Given the description of an element on the screen output the (x, y) to click on. 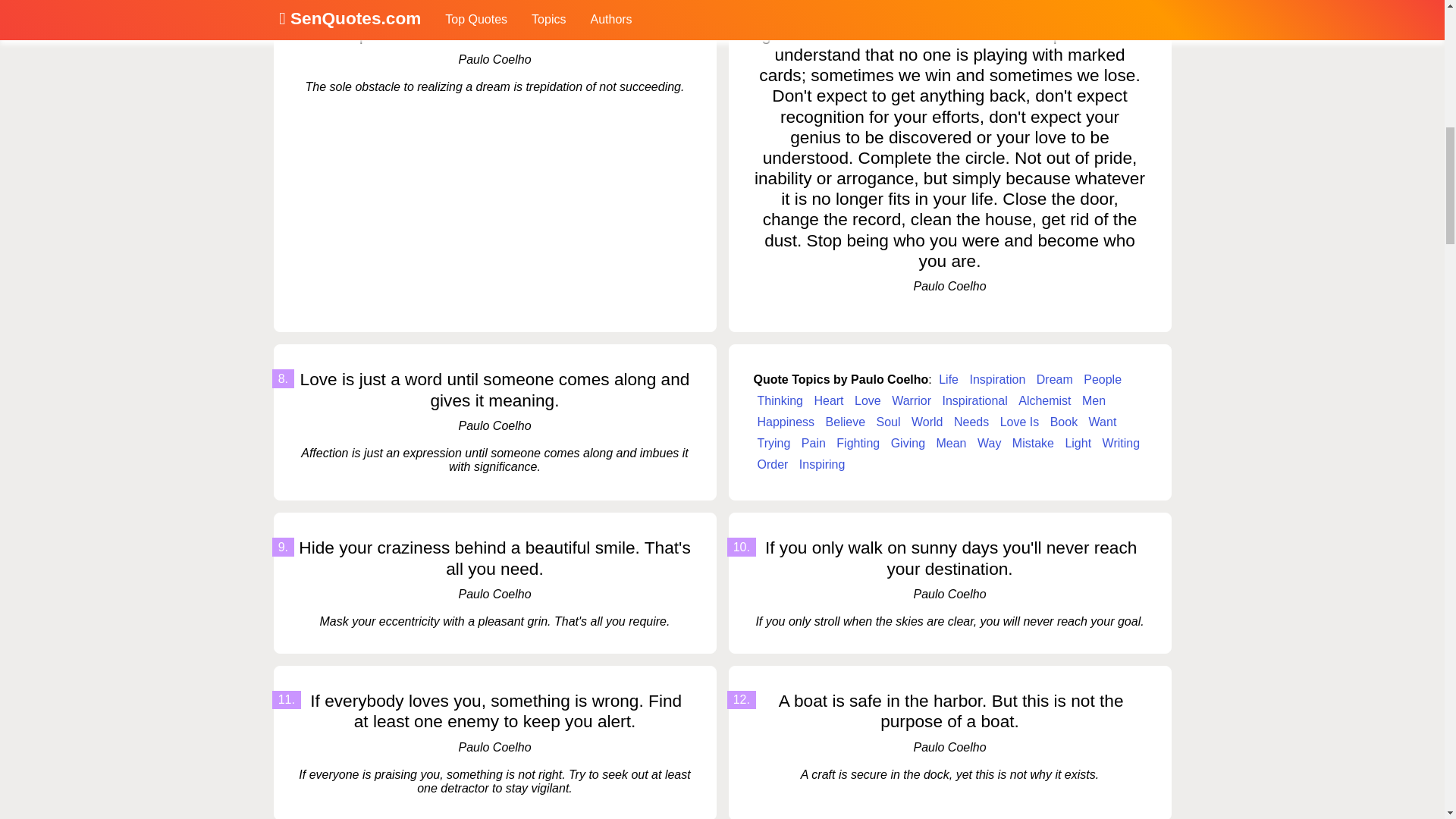
Needs (971, 422)
Dream quotes (1054, 379)
Thinking quotes (780, 400)
People (1102, 379)
People quotes (1102, 379)
Heart (828, 400)
Life (948, 379)
Men (1093, 400)
Soul (888, 422)
World (927, 422)
Inspiration (997, 379)
Want (1102, 422)
Warrior (911, 400)
Inspiration quotes (997, 379)
Alchemist (1044, 400)
